Given the description of an element on the screen output the (x, y) to click on. 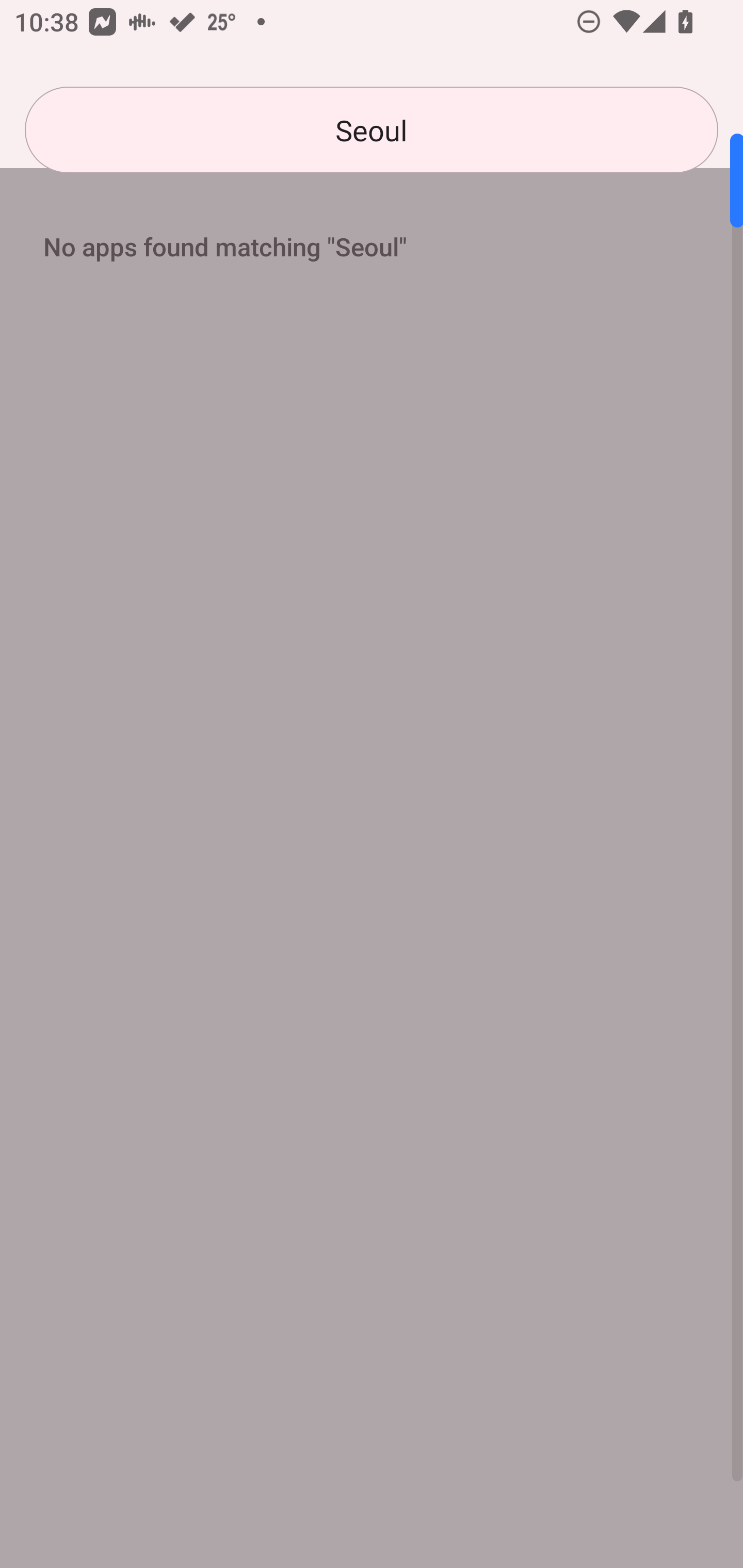
Seoul (371, 130)
